Given the description of an element on the screen output the (x, y) to click on. 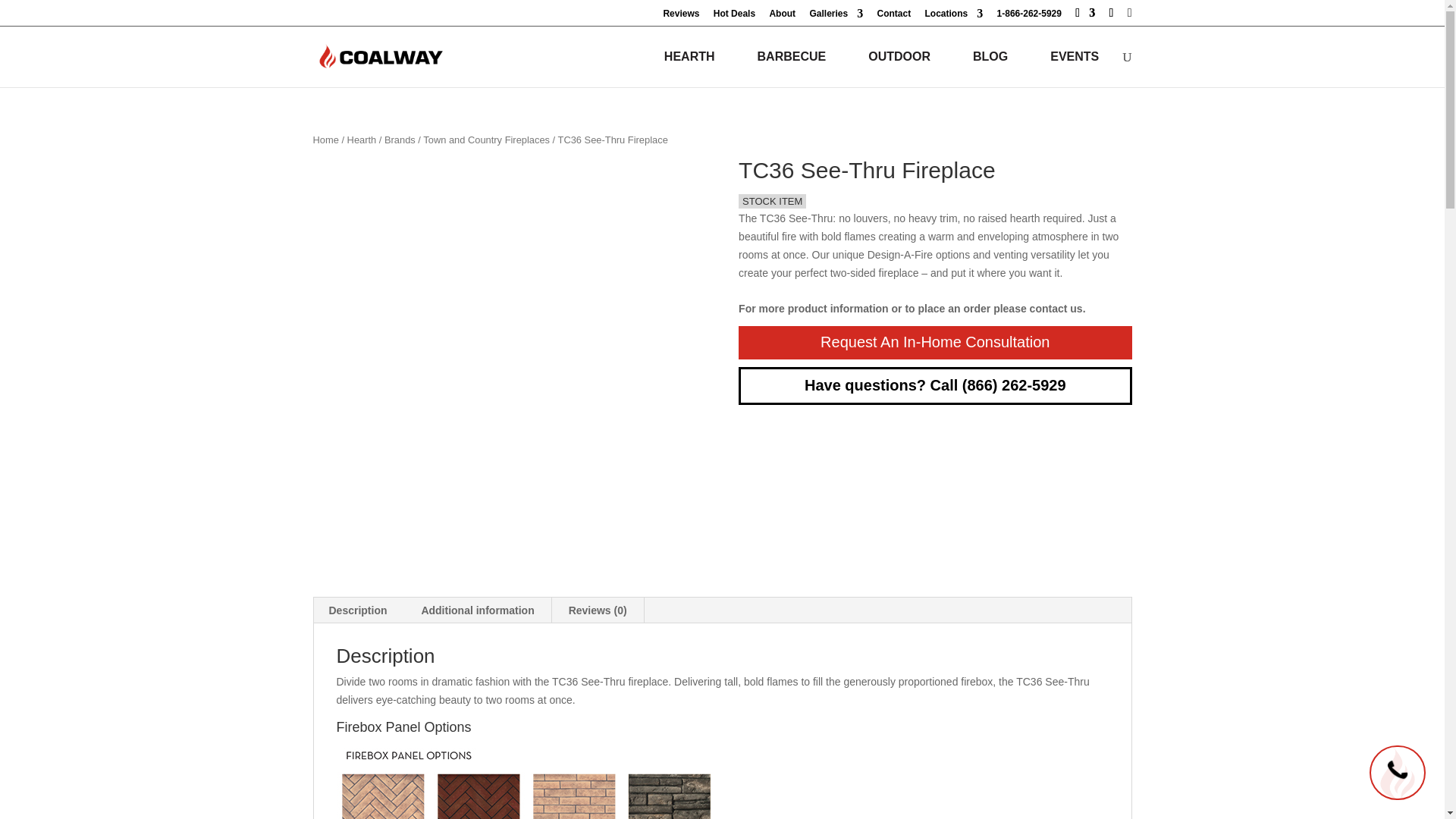
About (781, 17)
Reviews (680, 17)
Contact (893, 17)
Hot Deals (734, 17)
Locations (954, 17)
HEARTH (691, 56)
Galleries (836, 17)
1-866-262-5929 (1029, 17)
